Given the description of an element on the screen output the (x, y) to click on. 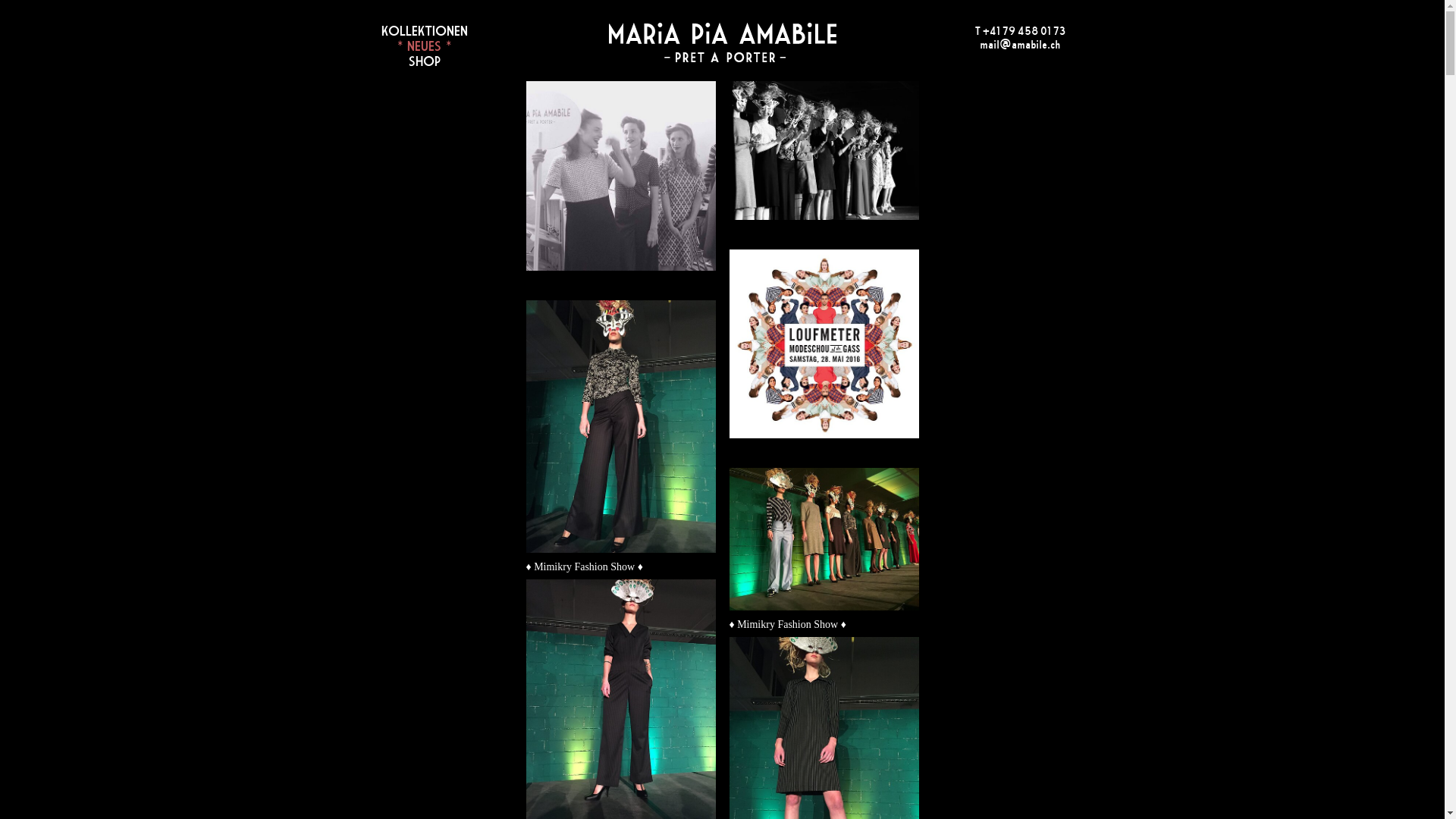
* NEUES * Element type: text (424, 45)
mail@amabile.ch Element type: text (1019, 43)
KOLLEKTIONEN Element type: text (423, 30)
Home Element type: hover (721, 42)
SHOP Element type: text (423, 61)
